Given the description of an element on the screen output the (x, y) to click on. 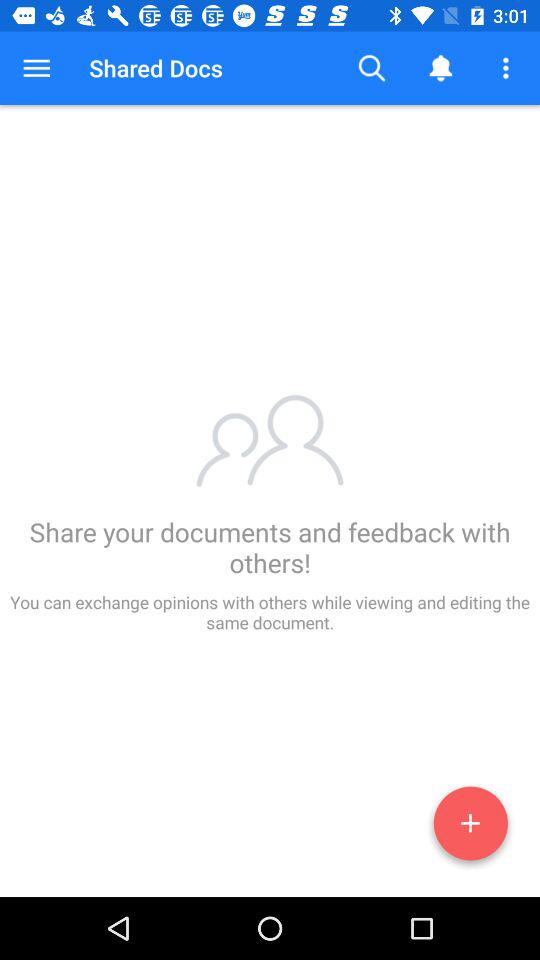
open item at the bottom right corner (470, 827)
